Given the description of an element on the screen output the (x, y) to click on. 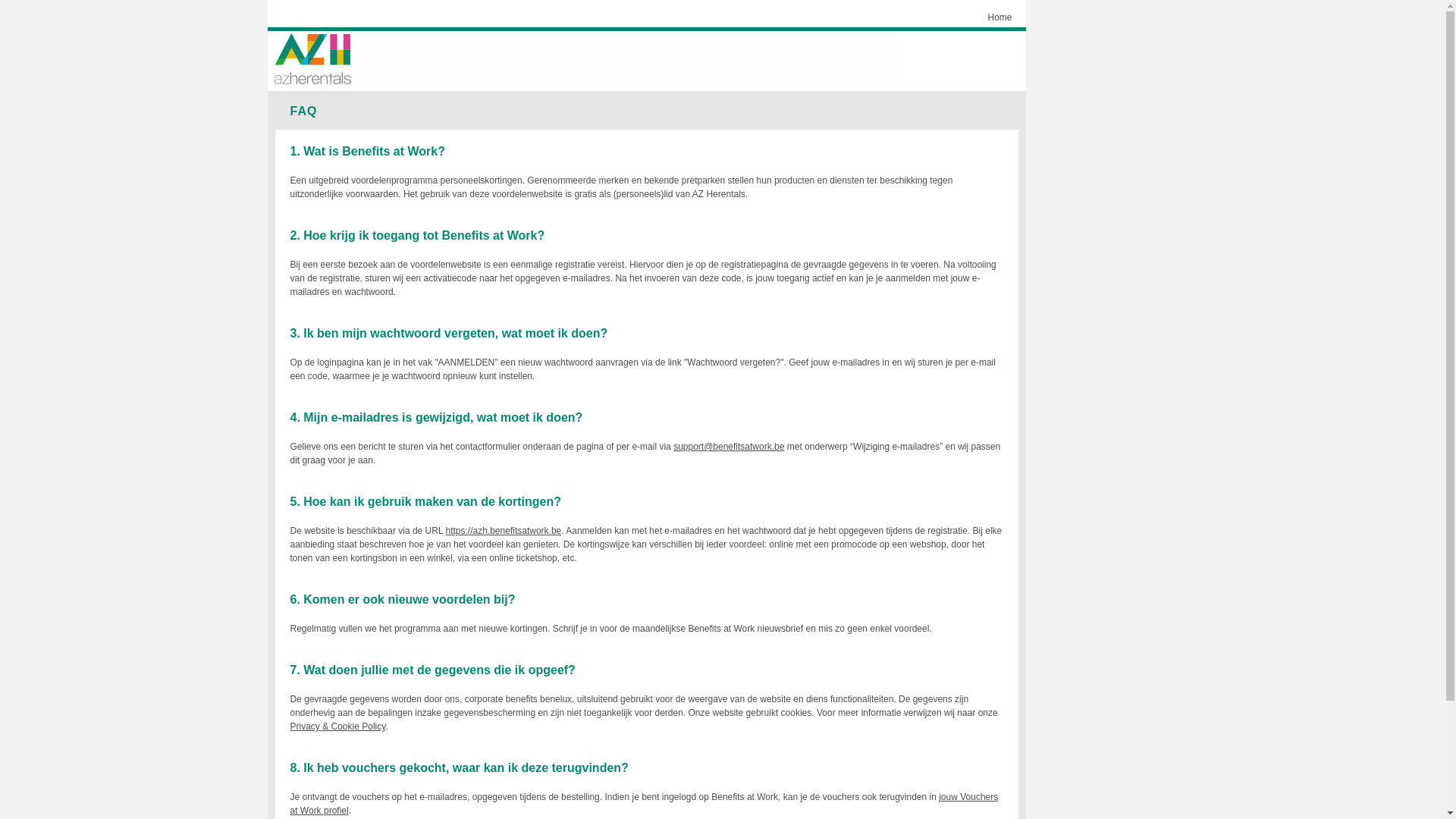
Privacy & Cookie Policy Element type: text (337, 726)
Home Element type: text (999, 17)
jouw Vouchers at Work profiel Element type: text (643, 803)
support@benefitsatwork.be Element type: text (728, 446)
https://azh.benefitsatwork.be Element type: text (503, 530)
